Given the description of an element on the screen output the (x, y) to click on. 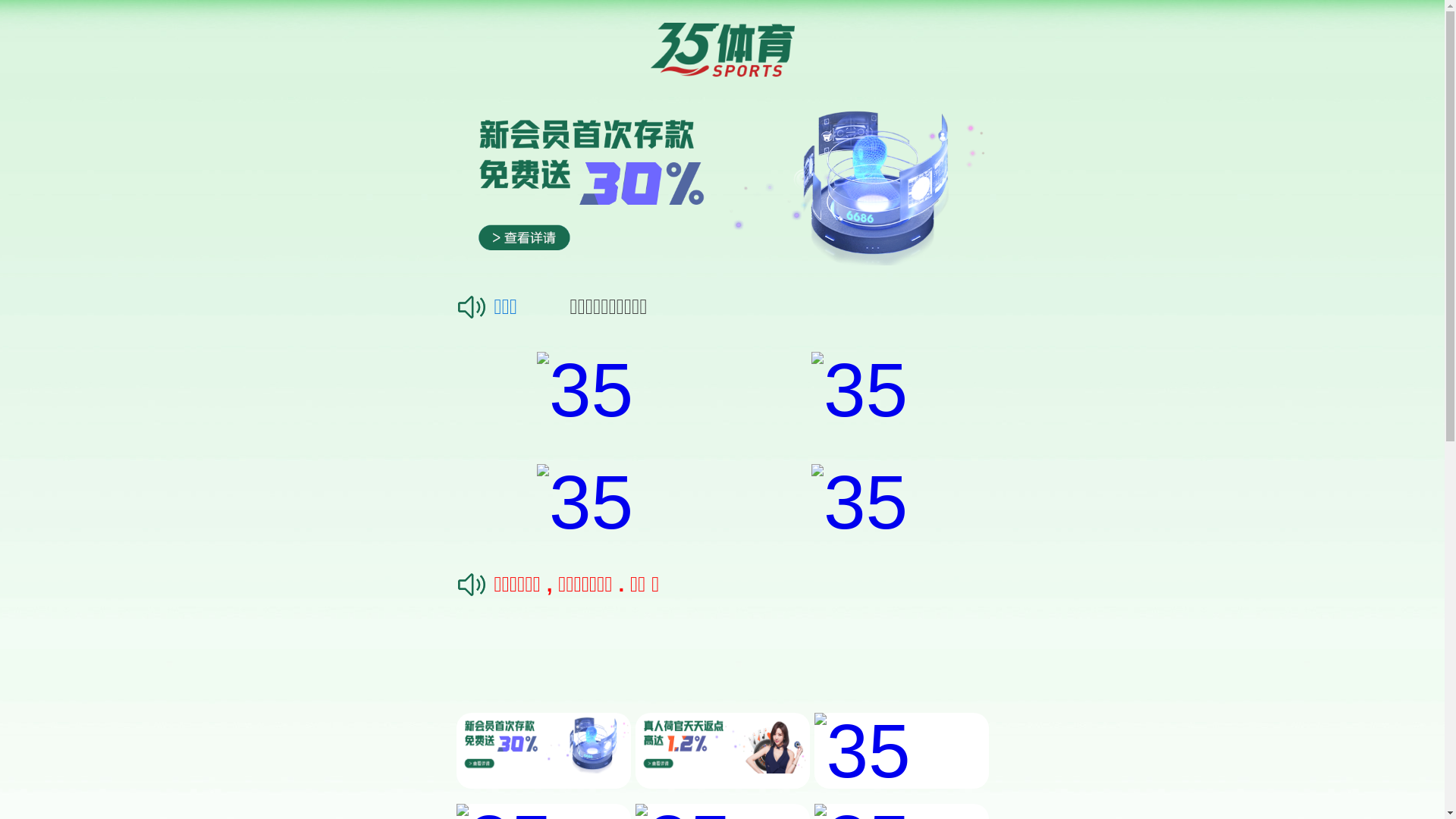
A+ Element type: text (426, 520)
A- Element type: text (450, 520)
A Element type: text (469, 520)
